Given the description of an element on the screen output the (x, y) to click on. 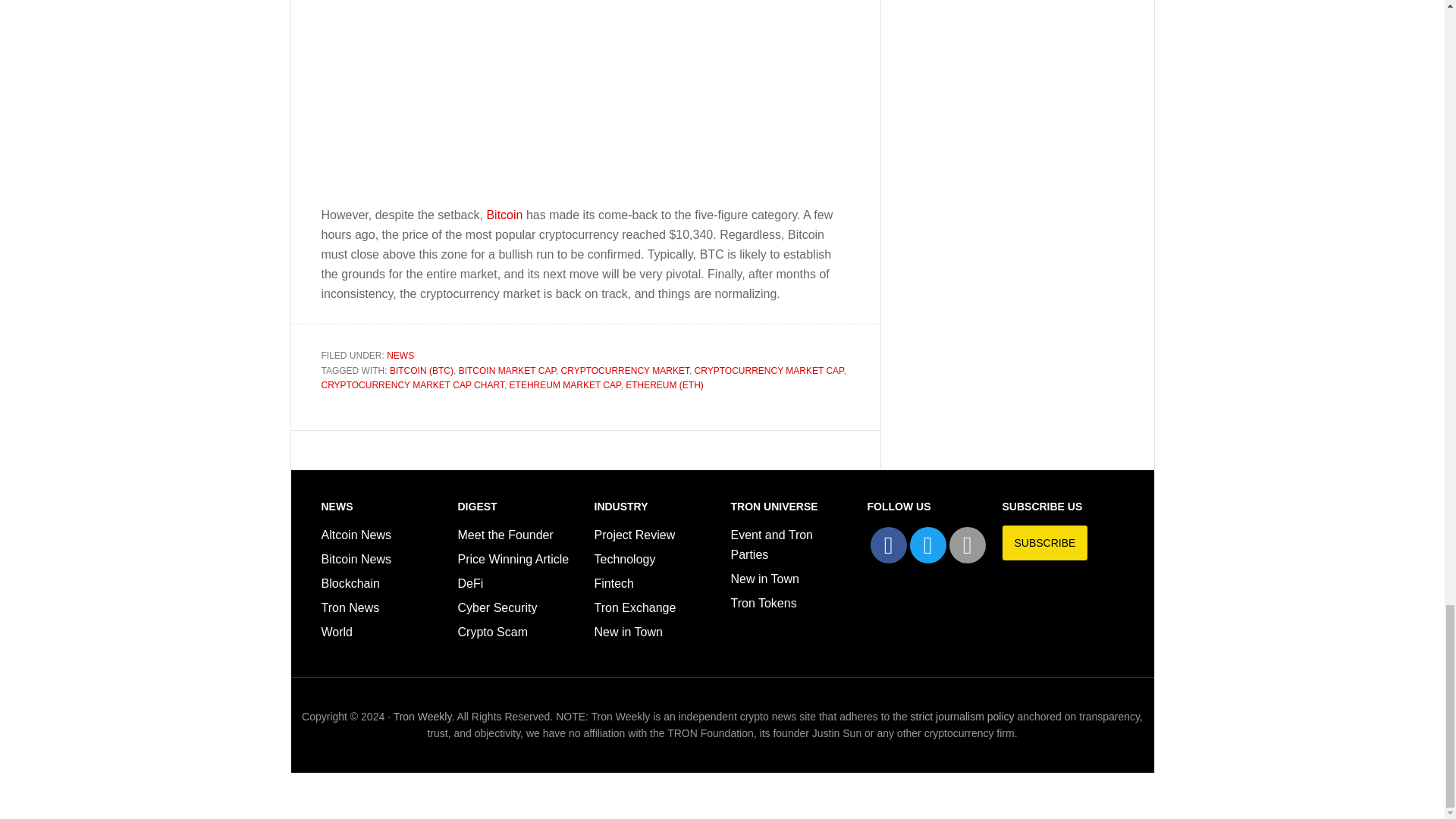
Twitter (928, 545)
Facebook (888, 545)
Facebook (888, 545)
Telegram (967, 545)
Telegram (967, 545)
Twitter (928, 545)
